Given the description of an element on the screen output the (x, y) to click on. 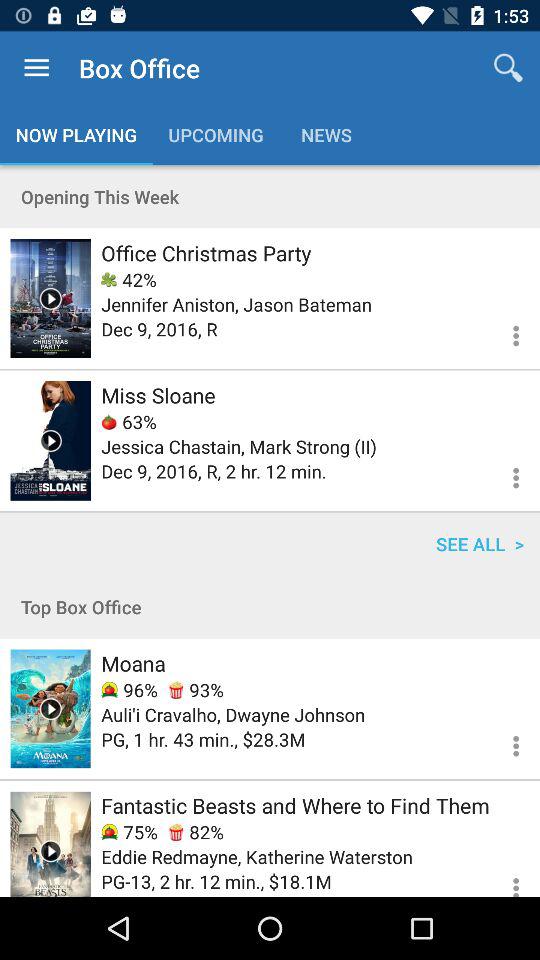
click icon next to moana icon (195, 689)
